Given the description of an element on the screen output the (x, y) to click on. 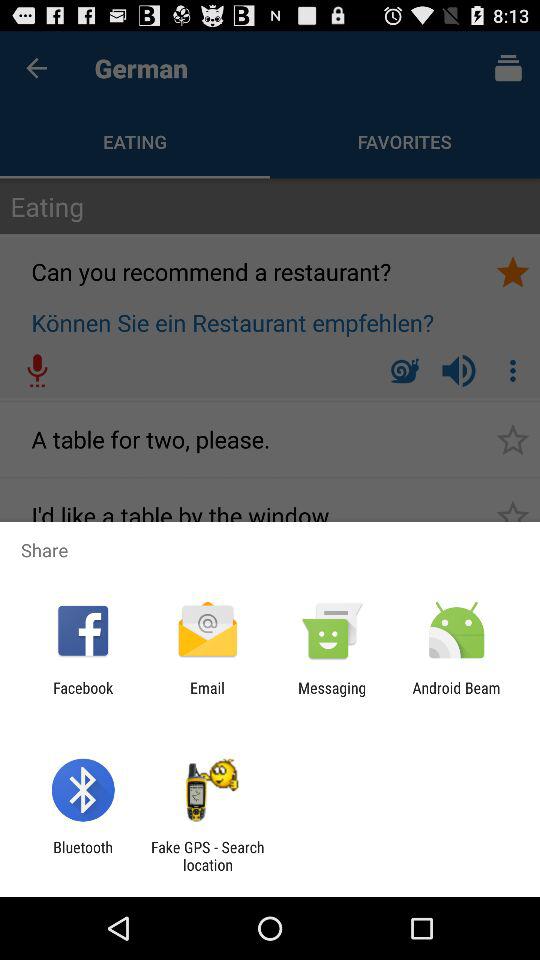
press messaging app (332, 696)
